Given the description of an element on the screen output the (x, y) to click on. 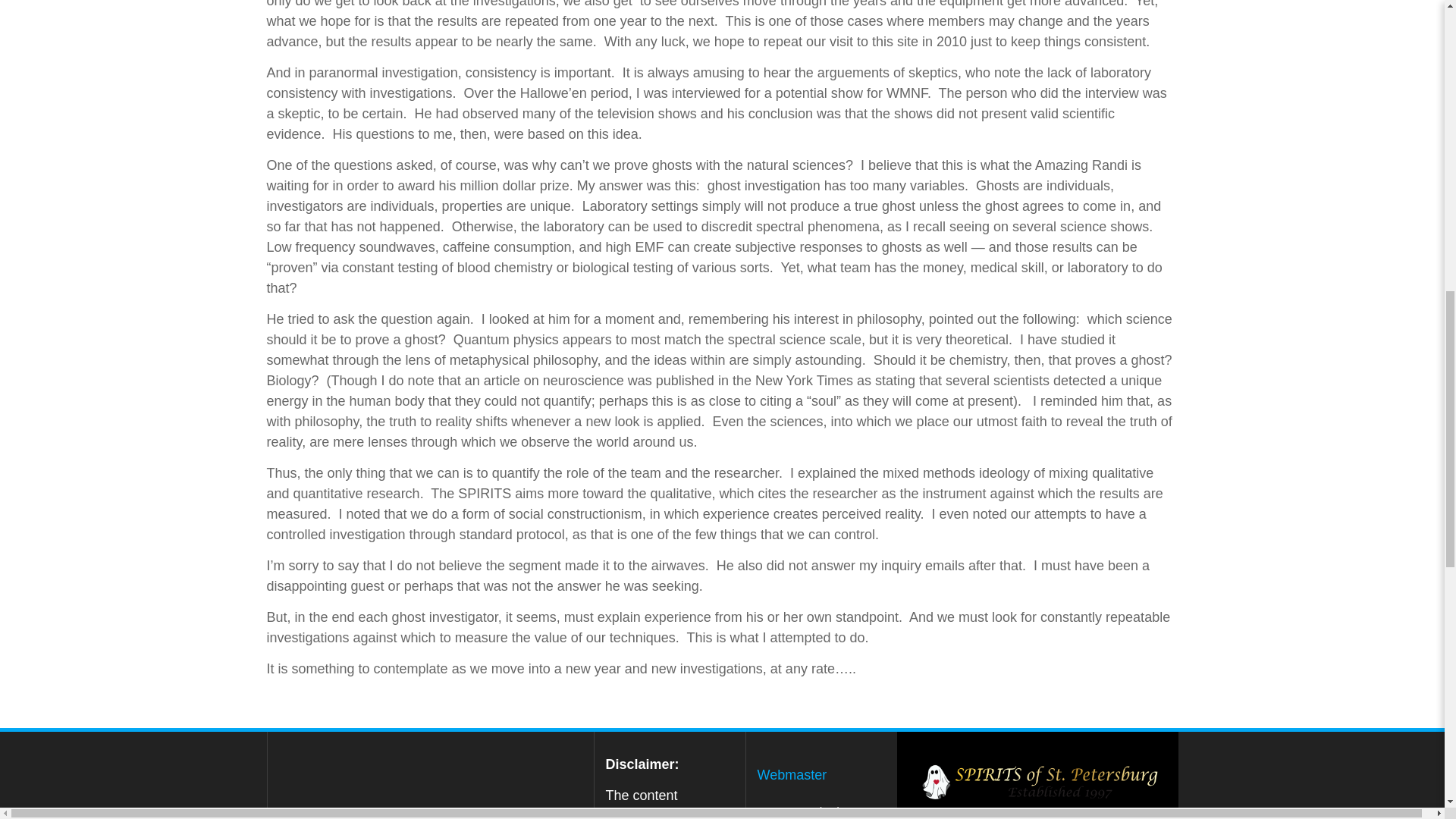
Webmaster (792, 774)
2022 Investigations (810, 807)
